Given the description of an element on the screen output the (x, y) to click on. 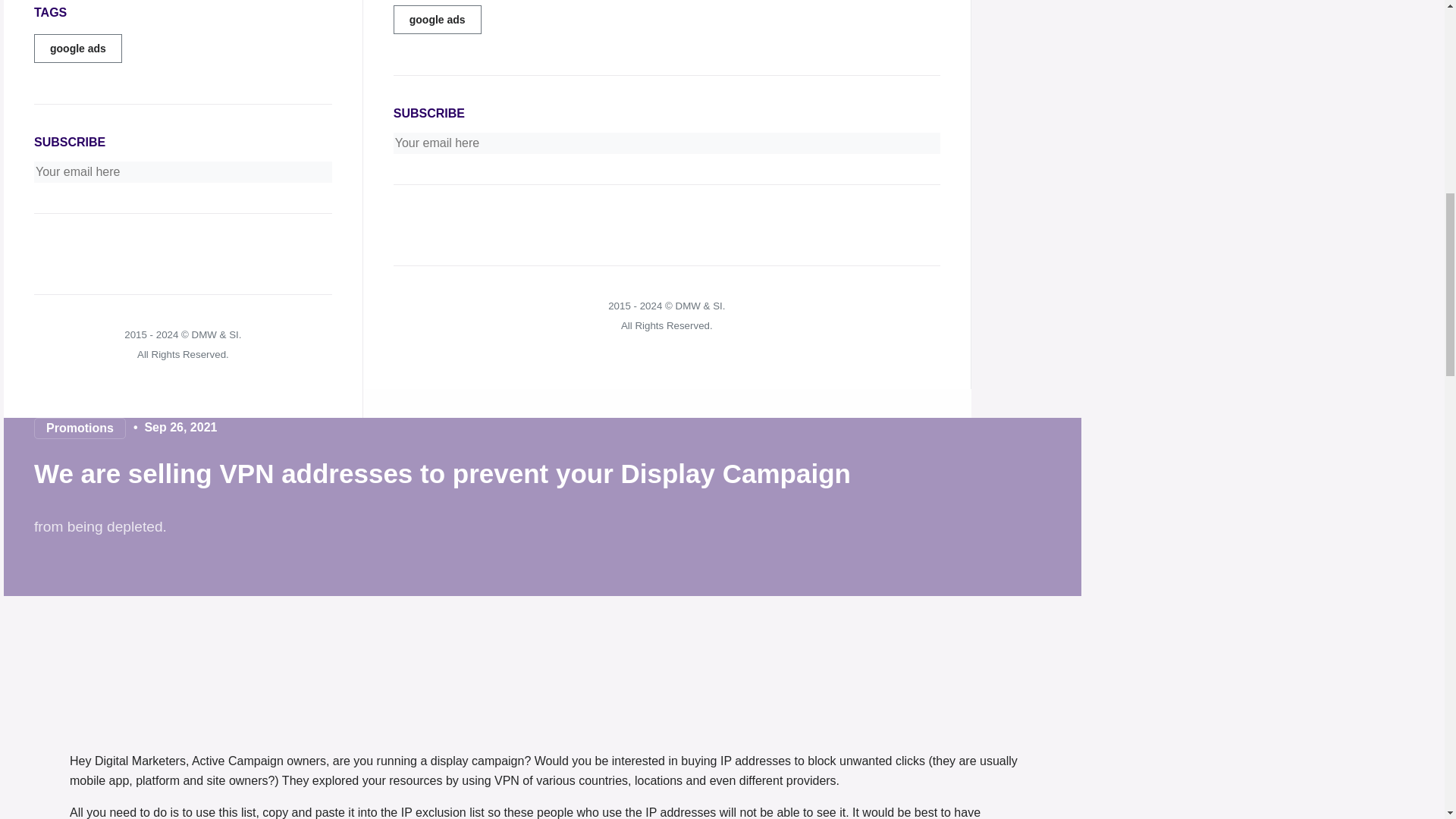
google ads (77, 48)
